Given the description of an element on the screen output the (x, y) to click on. 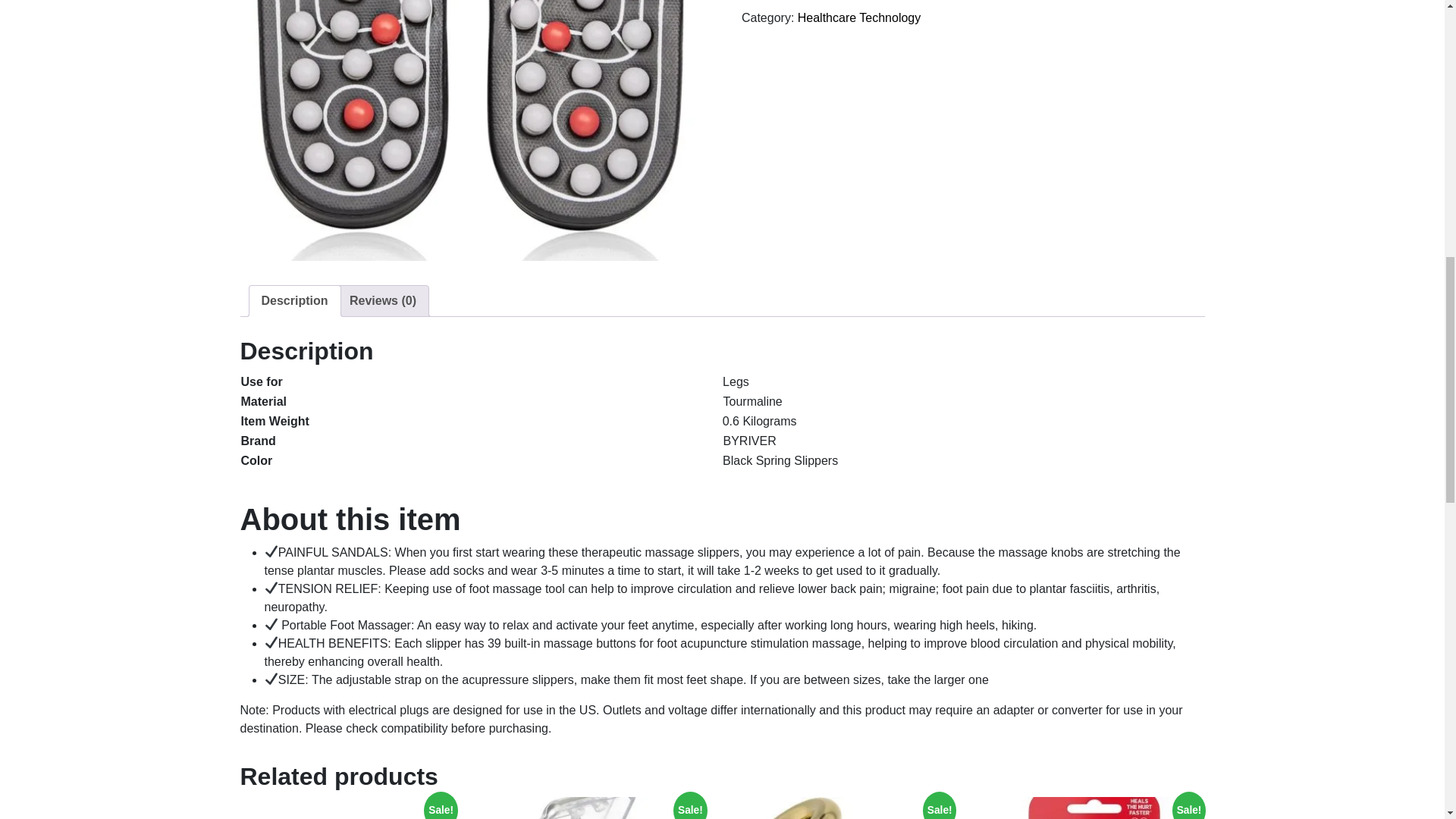
ht2 (471, 130)
